Given the description of an element on the screen output the (x, y) to click on. 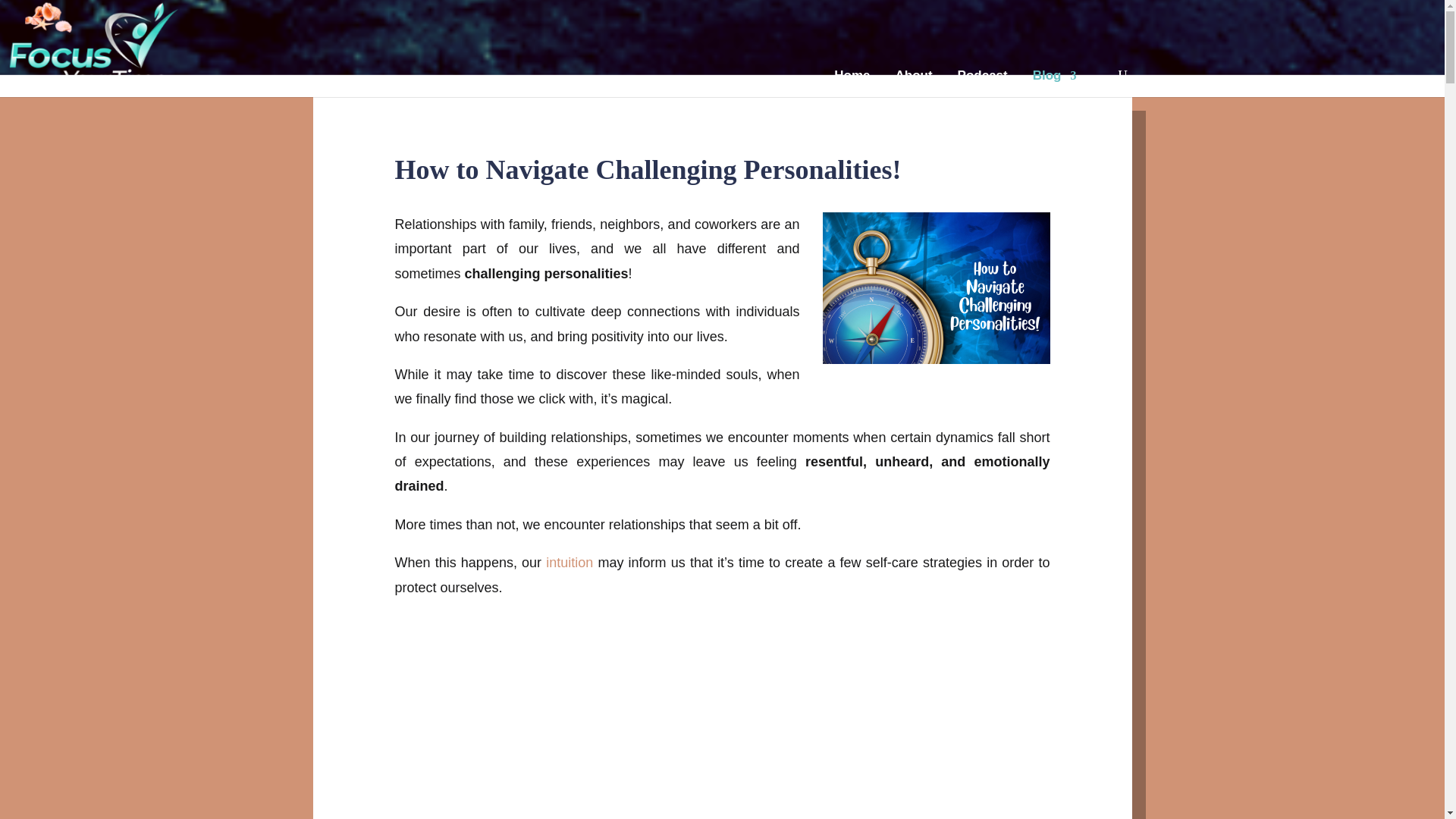
About (913, 77)
Home (851, 77)
Blog (1054, 77)
How to Navigate Challenging Personalities! (935, 287)
Podcast (982, 77)
intuition (569, 562)
YouTube video player (721, 723)
